Given the description of an element on the screen output the (x, y) to click on. 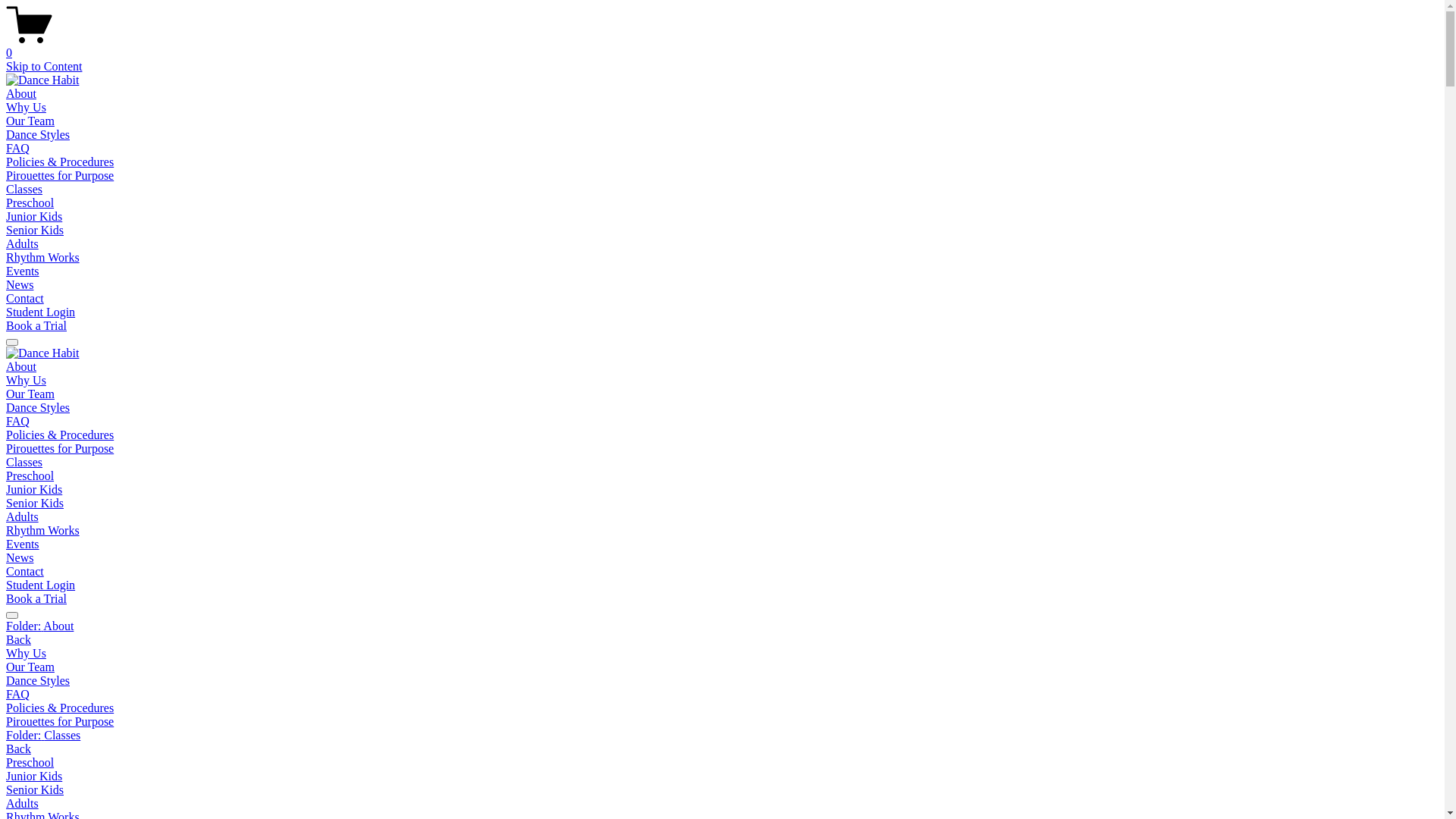
Dance Styles Element type: text (37, 134)
Adults Element type: text (22, 243)
Pirouettes for Purpose Element type: text (722, 721)
Preschool Element type: text (722, 762)
Junior Kids Element type: text (722, 776)
Why Us Element type: text (722, 653)
Skip to Content Element type: text (43, 65)
Senior Kids Element type: text (34, 229)
Adults Element type: text (22, 516)
News Element type: text (19, 557)
Back Element type: text (18, 748)
Events Element type: text (22, 270)
Policies & Procedures Element type: text (722, 708)
Student Login Element type: text (40, 584)
Pirouettes for Purpose Element type: text (59, 175)
Student Login Element type: text (40, 311)
Junior Kids Element type: text (34, 216)
Policies & Procedures Element type: text (59, 434)
Folder: About Element type: text (722, 626)
About Element type: text (21, 93)
Preschool Element type: text (29, 202)
Back Element type: text (18, 639)
Folder: Classes Element type: text (722, 735)
Why Us Element type: text (26, 106)
Dance Styles Element type: text (722, 680)
News Element type: text (19, 284)
Book a Trial Element type: text (36, 325)
Adults Element type: text (722, 803)
Classes Element type: text (24, 461)
About Element type: text (21, 366)
Rhythm Works Element type: text (42, 257)
0 Element type: text (722, 45)
FAQ Element type: text (17, 147)
Book a Trial Element type: text (36, 598)
Our Team Element type: text (30, 120)
Contact Element type: text (24, 570)
Why Us Element type: text (26, 379)
Dance Styles Element type: text (37, 407)
Events Element type: text (22, 543)
FAQ Element type: text (722, 694)
Classes Element type: text (24, 188)
Preschool Element type: text (29, 475)
Rhythm Works Element type: text (42, 530)
Policies & Procedures Element type: text (59, 161)
Senior Kids Element type: text (34, 502)
Our Team Element type: text (30, 393)
FAQ Element type: text (17, 420)
Junior Kids Element type: text (34, 489)
Senior Kids Element type: text (722, 790)
Our Team Element type: text (722, 667)
Contact Element type: text (24, 297)
Pirouettes for Purpose Element type: text (59, 448)
